Given the description of an element on the screen output the (x, y) to click on. 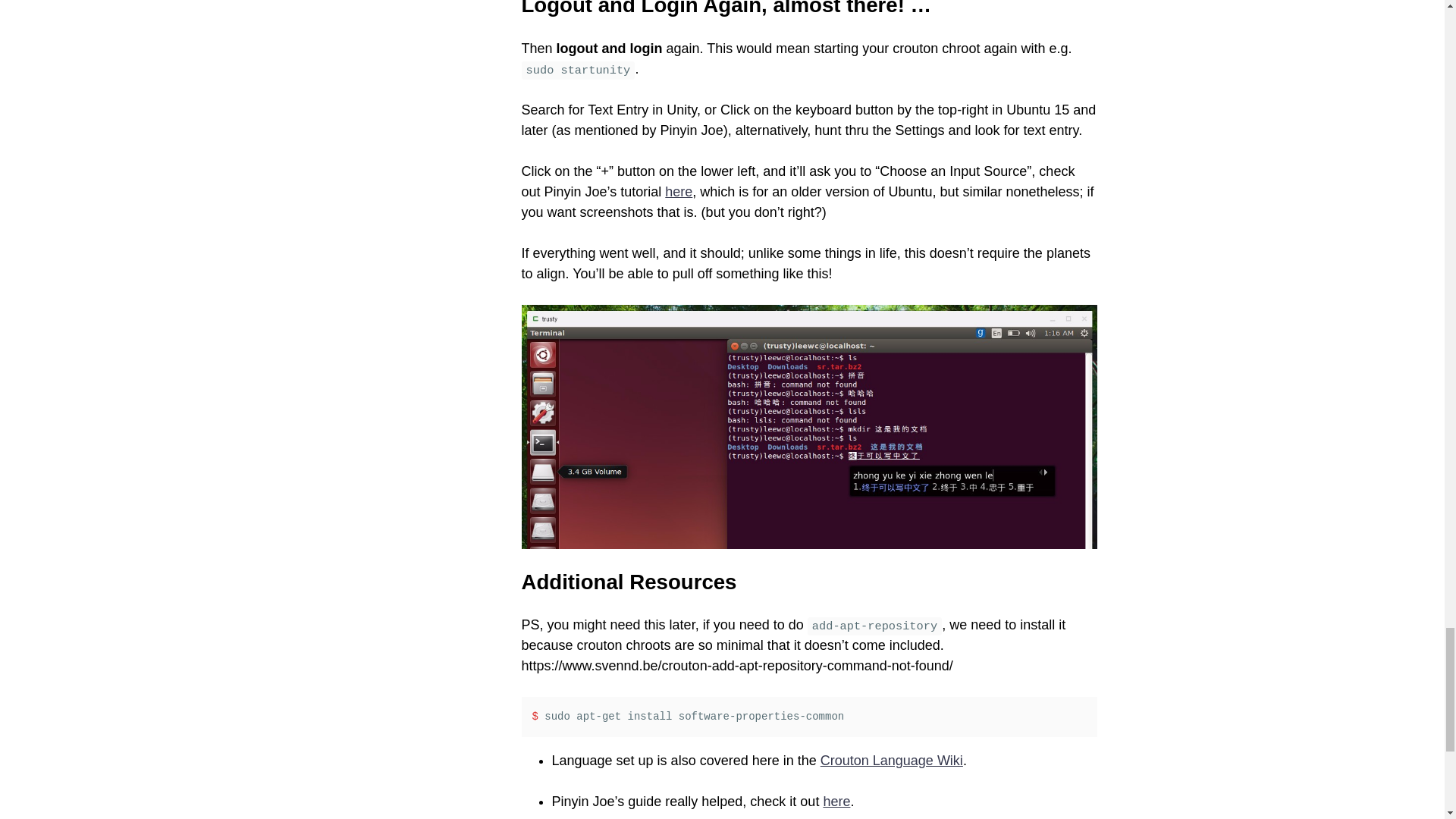
here (836, 801)
Crouton Language Wiki (891, 760)
here (679, 191)
